Given the description of an element on the screen output the (x, y) to click on. 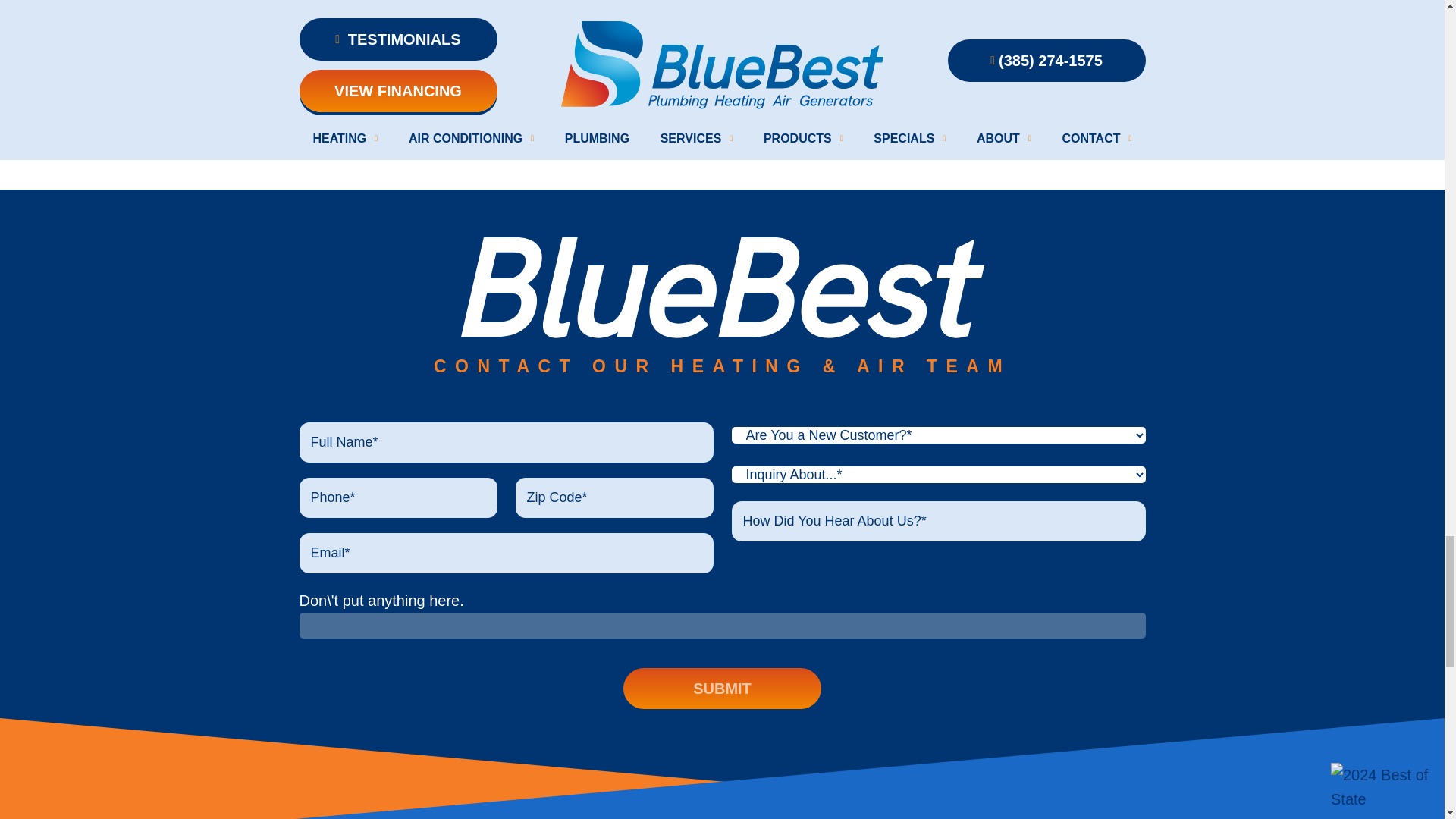
SUBMIT (722, 688)
